Given the description of an element on the screen output the (x, y) to click on. 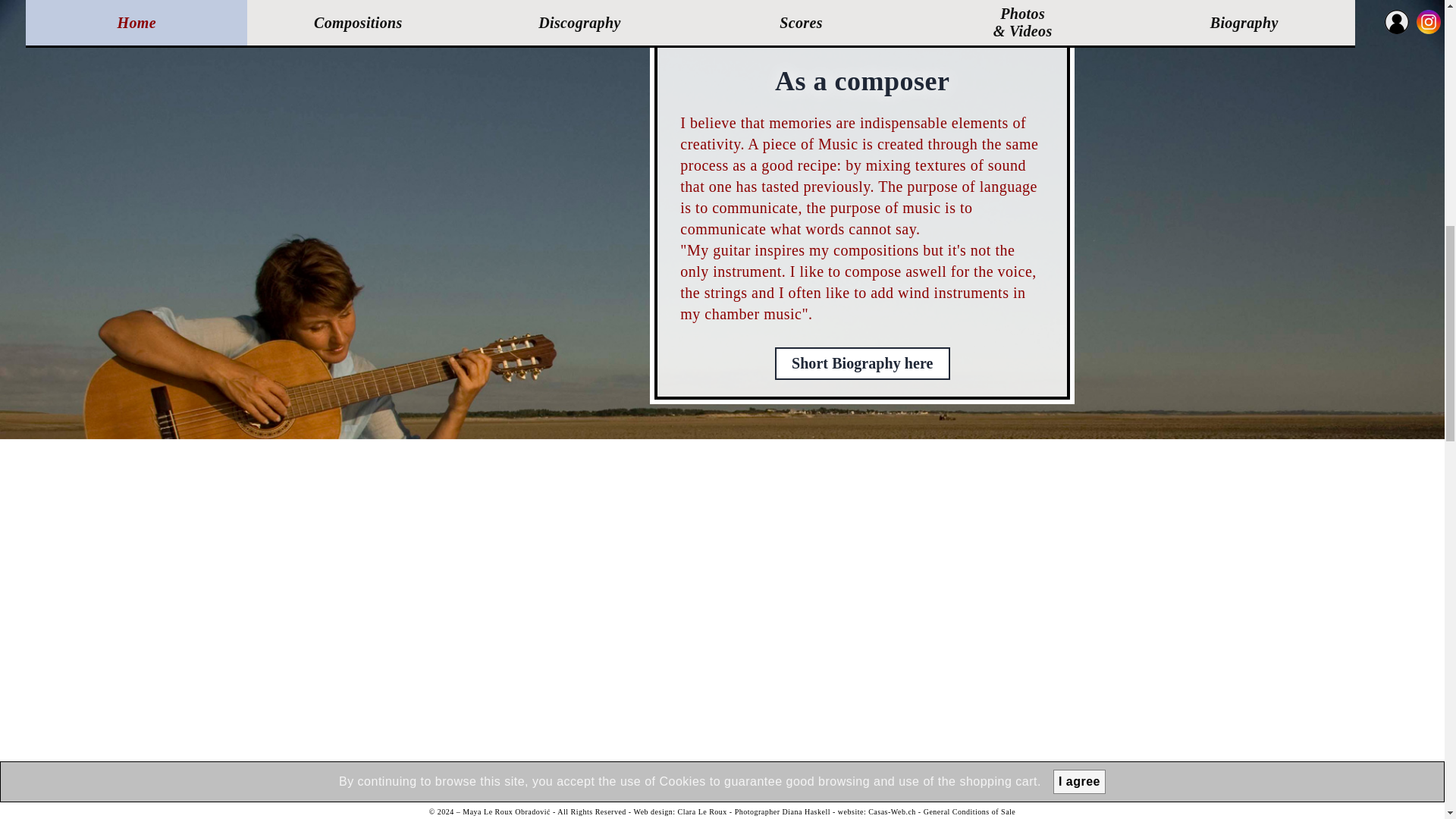
Short Biography here (862, 362)
